Given the description of an element on the screen output the (x, y) to click on. 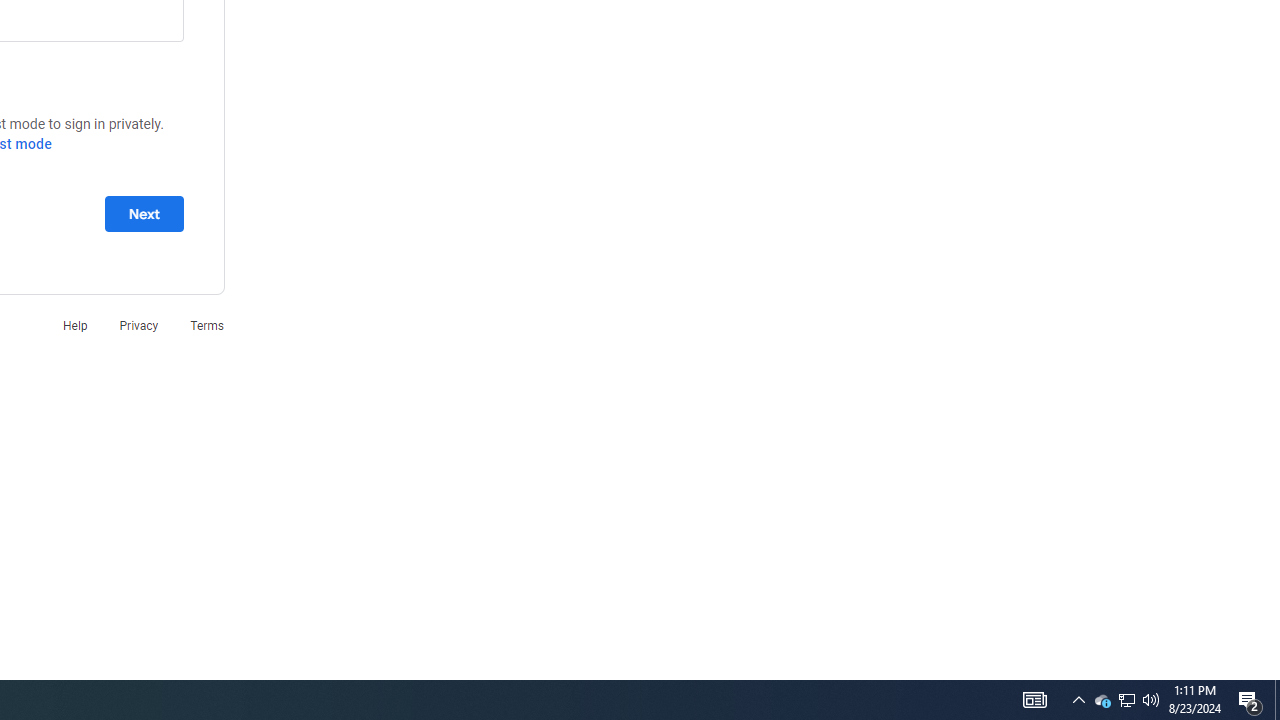
User Promoted Notification Area (1126, 699)
Help (74, 324)
Terms (207, 324)
AutomationID: 4105 (1034, 699)
Next (143, 213)
Show desktop (1277, 699)
Q2790: 100% (1151, 699)
Notification Chevron (1078, 699)
Action Center, 2 new notifications (1250, 699)
Privacy (138, 324)
